Given the description of an element on the screen output the (x, y) to click on. 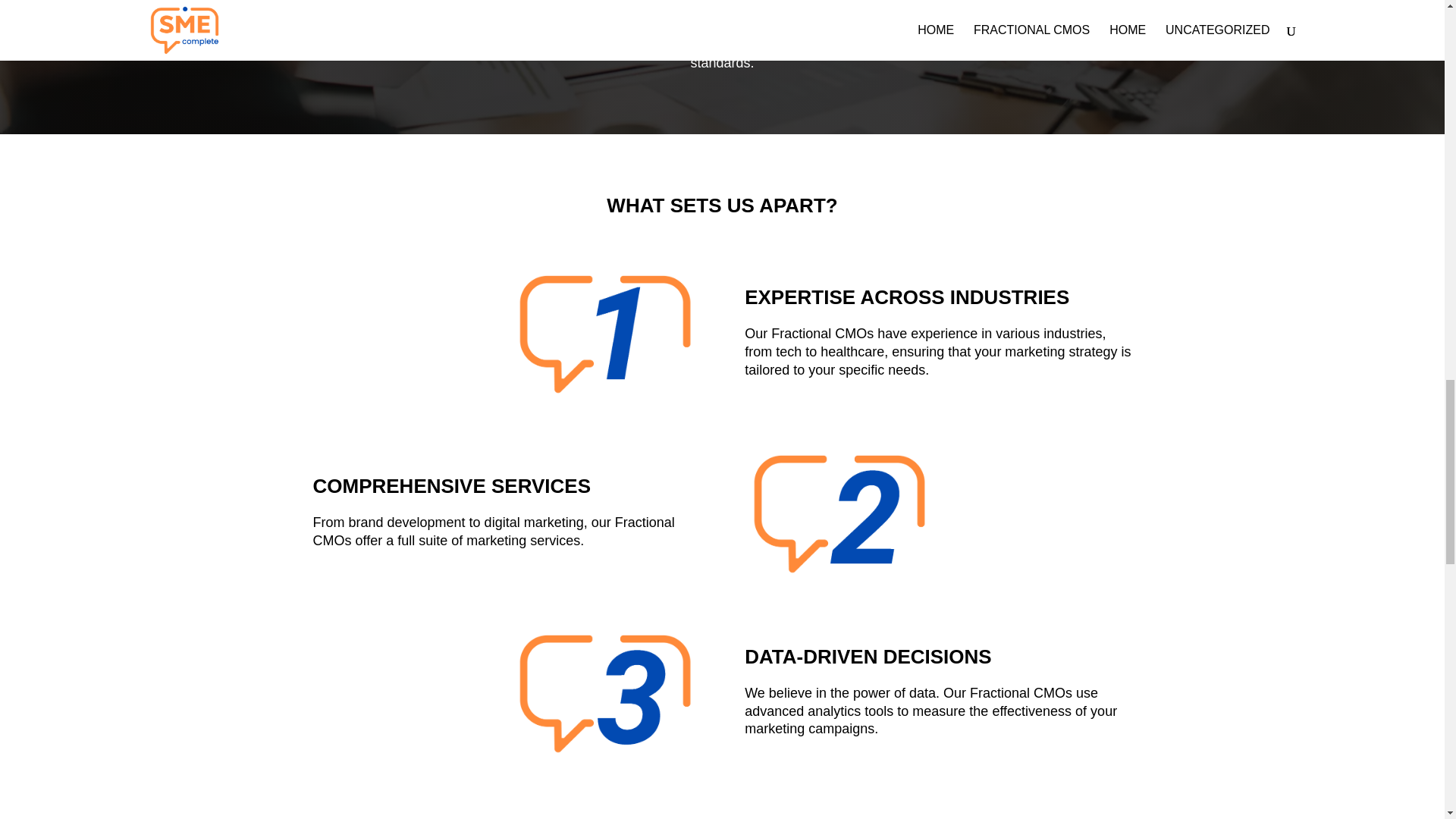
three (605, 692)
one (605, 332)
two (839, 512)
